Given the description of an element on the screen output the (x, y) to click on. 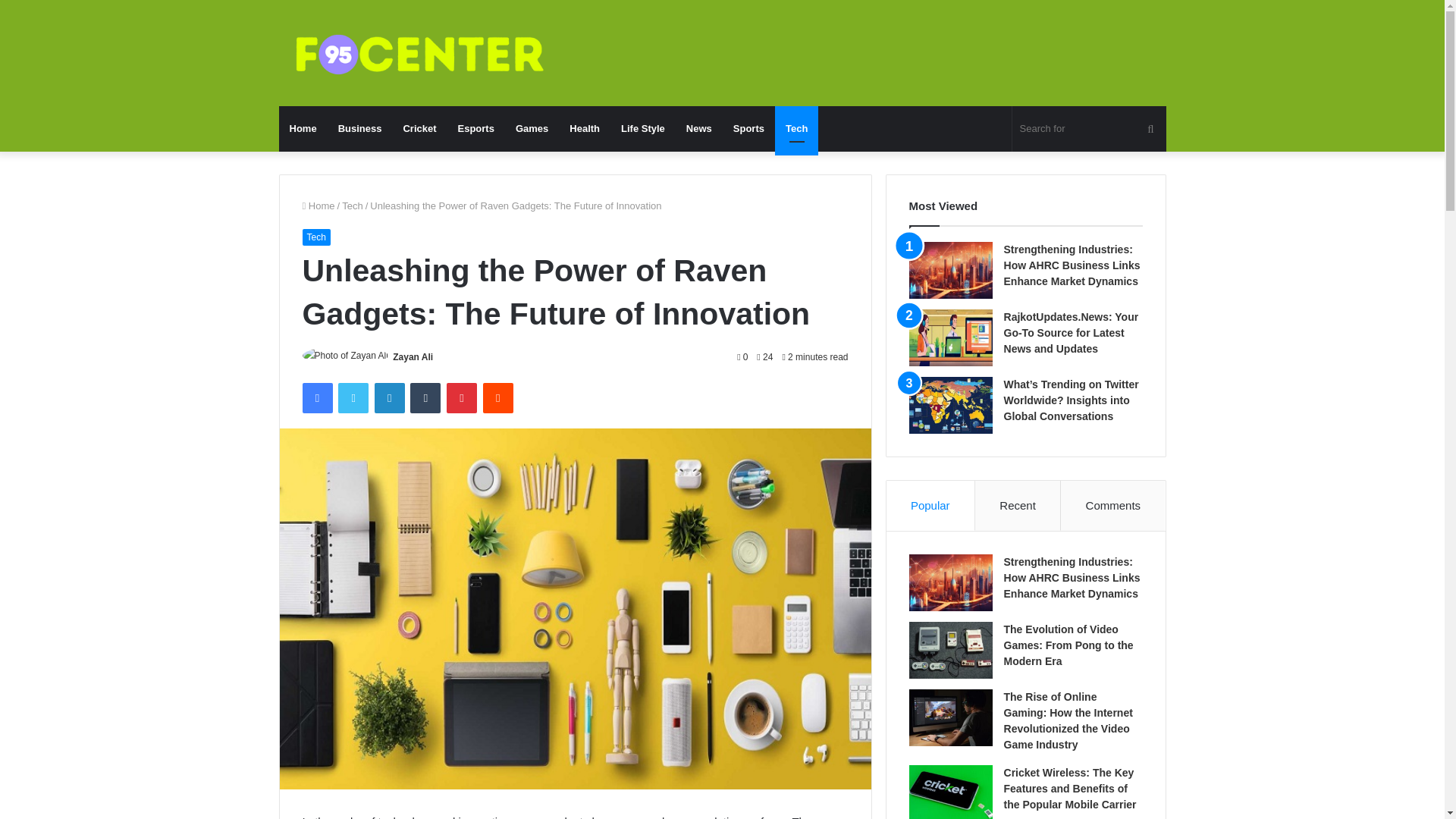
Home (317, 205)
Life Style (642, 128)
Tech (315, 237)
Search for (1150, 128)
Twitter (352, 398)
Home (303, 128)
LinkedIn (389, 398)
Tech (796, 128)
Facebook (316, 398)
Tumblr (425, 398)
Zayan Ali (412, 357)
LinkedIn (389, 398)
Search for (1088, 128)
Facebook (316, 398)
Pinterest (461, 398)
